Given the description of an element on the screen output the (x, y) to click on. 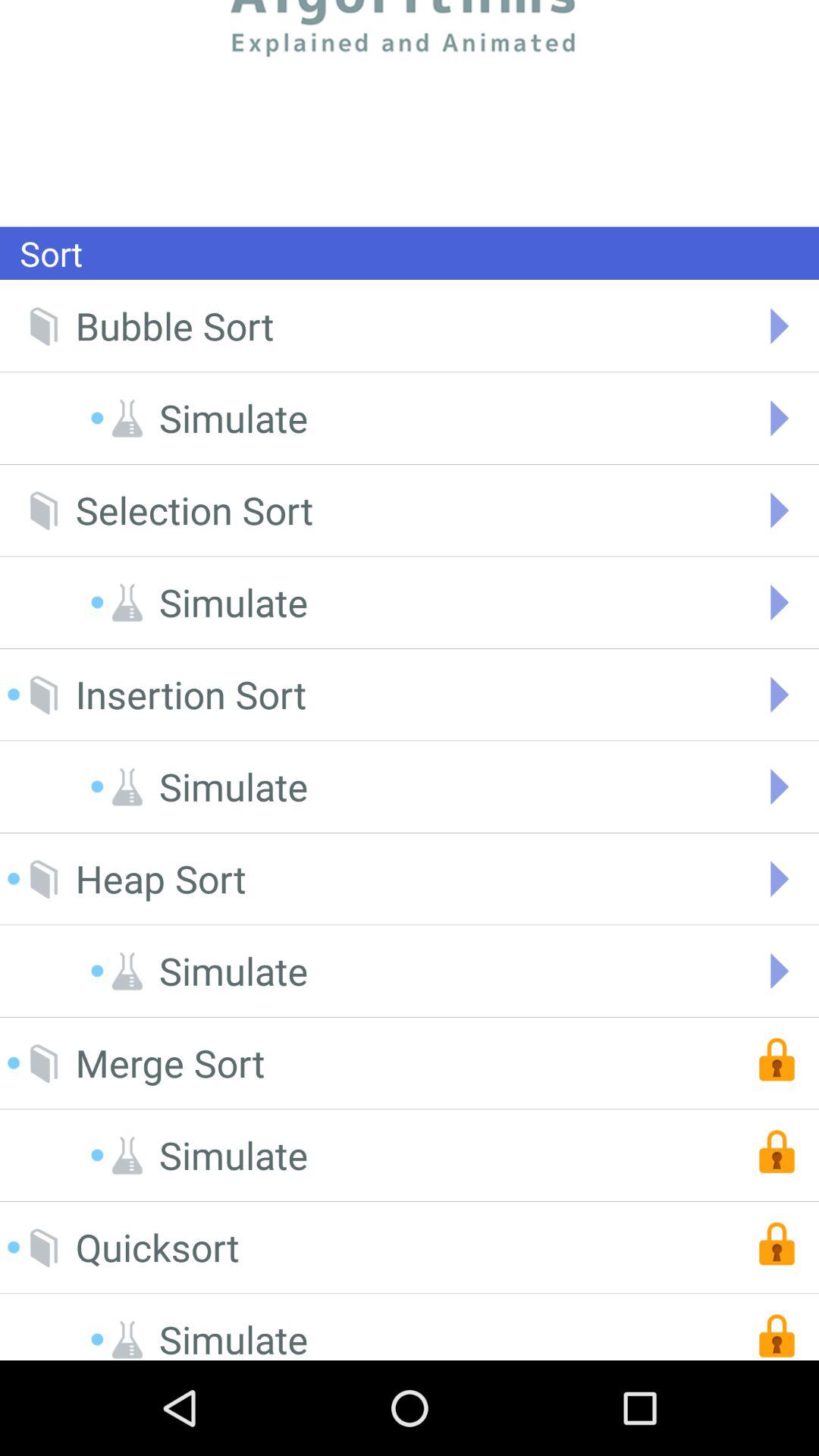
choose bubble sort icon (174, 325)
